Given the description of an element on the screen output the (x, y) to click on. 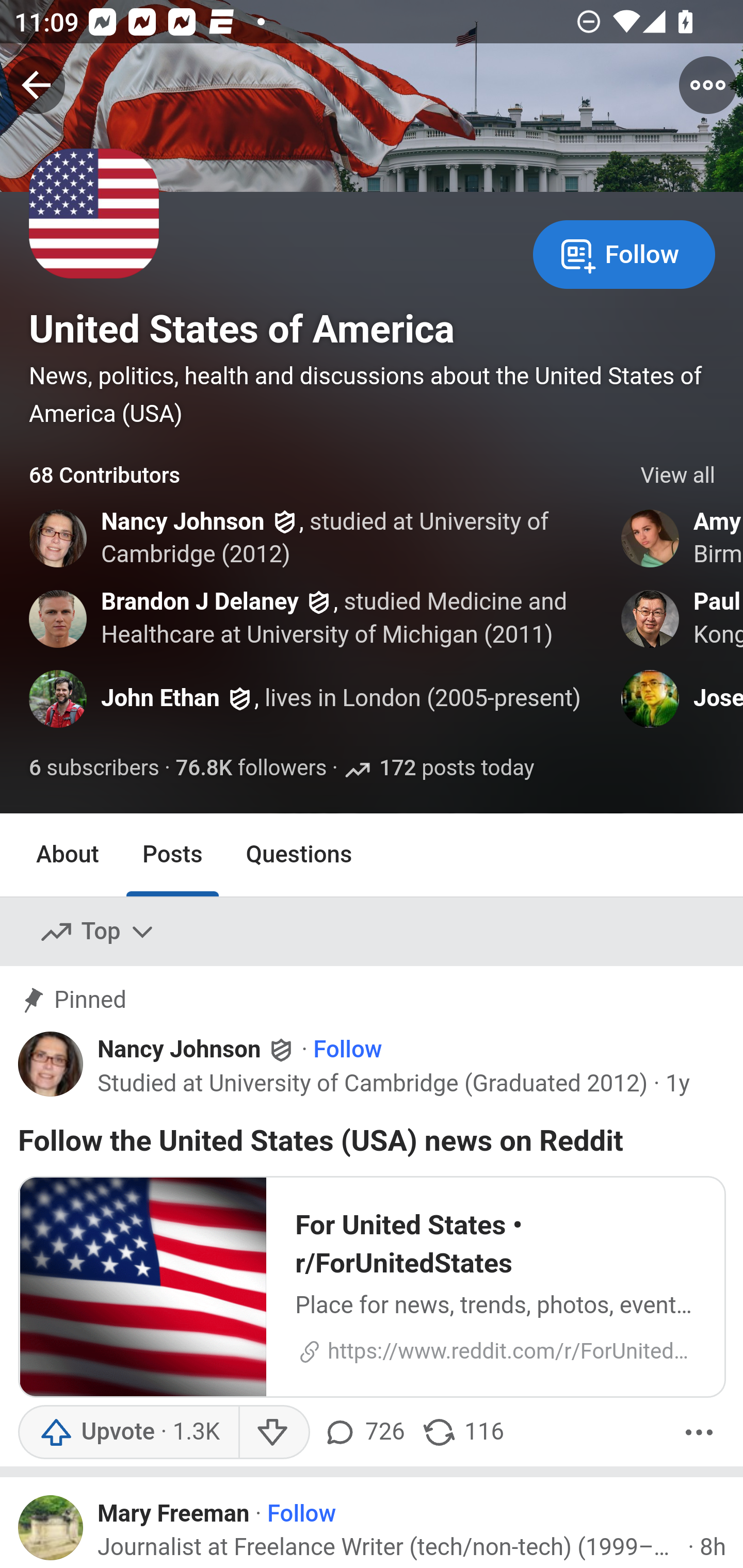
Follow (623, 252)
United States of America (241, 329)
View all (677, 475)
Nancy Johnson (183, 521)
Profile photo for Nancy Johnson (58, 538)
Profile photo for Amy Rees (650, 538)
Brandon J Delaney (200, 601)
Profile photo for Brandon J Delaney (58, 617)
Profile photo for Paul Denlinger (650, 617)
Profile photo for John Ethan (58, 699)
Profile photo for Joseph Boyle (650, 699)
John Ethan (160, 699)
6 subscribers (94, 768)
76.8K followers (251, 768)
About (68, 854)
Posts (171, 854)
Questions (299, 854)
Top (97, 931)
Profile photo for Nancy Johnson (50, 1063)
Nancy Johnson Nancy Johnson   (196, 1049)
Follow (347, 1051)
1y 1 y (677, 1083)
Upvote (127, 1431)
Downvote (273, 1431)
726 comments (365, 1431)
116 shares (461, 1431)
More (699, 1431)
Profile photo for Mary Freeman (50, 1527)
Mary Freeman (174, 1513)
Follow (302, 1513)
8h 8 h (712, 1547)
